Given the description of an element on the screen output the (x, y) to click on. 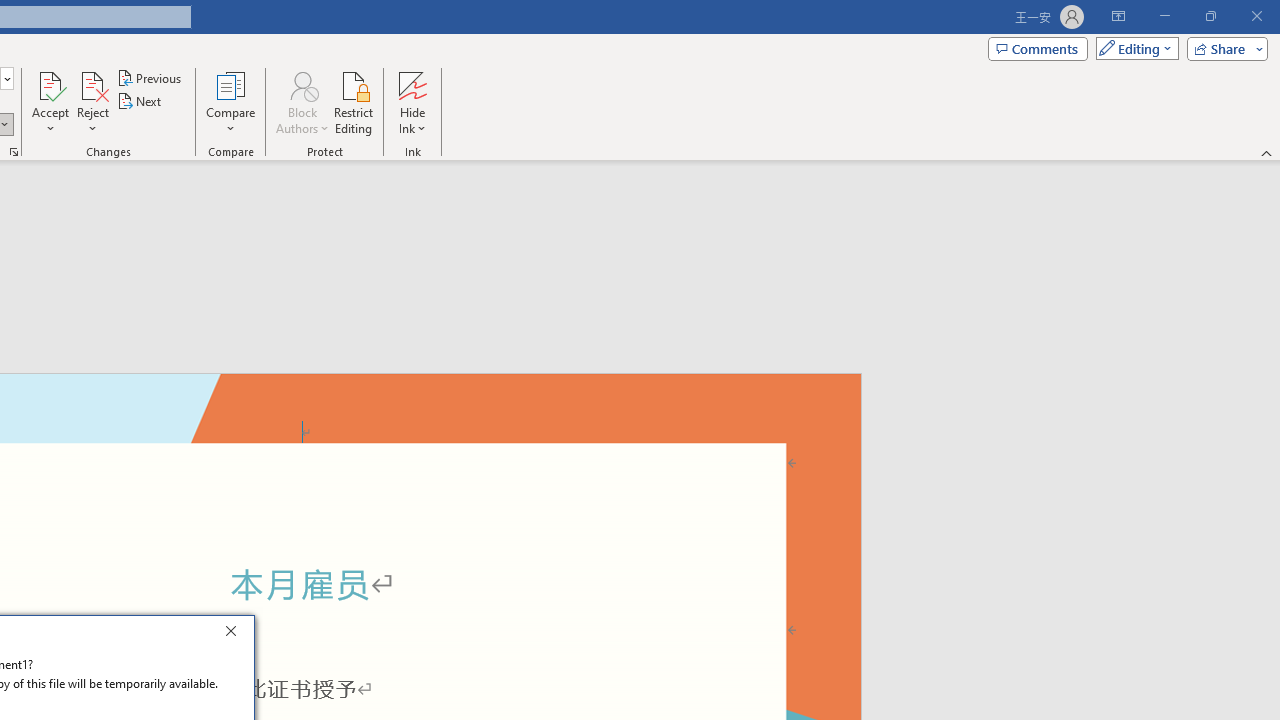
Compare (230, 102)
Hide Ink (412, 84)
Restore Down (1210, 16)
Next (140, 101)
Change Tracking Options... (13, 151)
Open (6, 78)
Collapse the Ribbon (1267, 152)
Mode (1133, 47)
Hide Ink (412, 102)
